Given the description of an element on the screen output the (x, y) to click on. 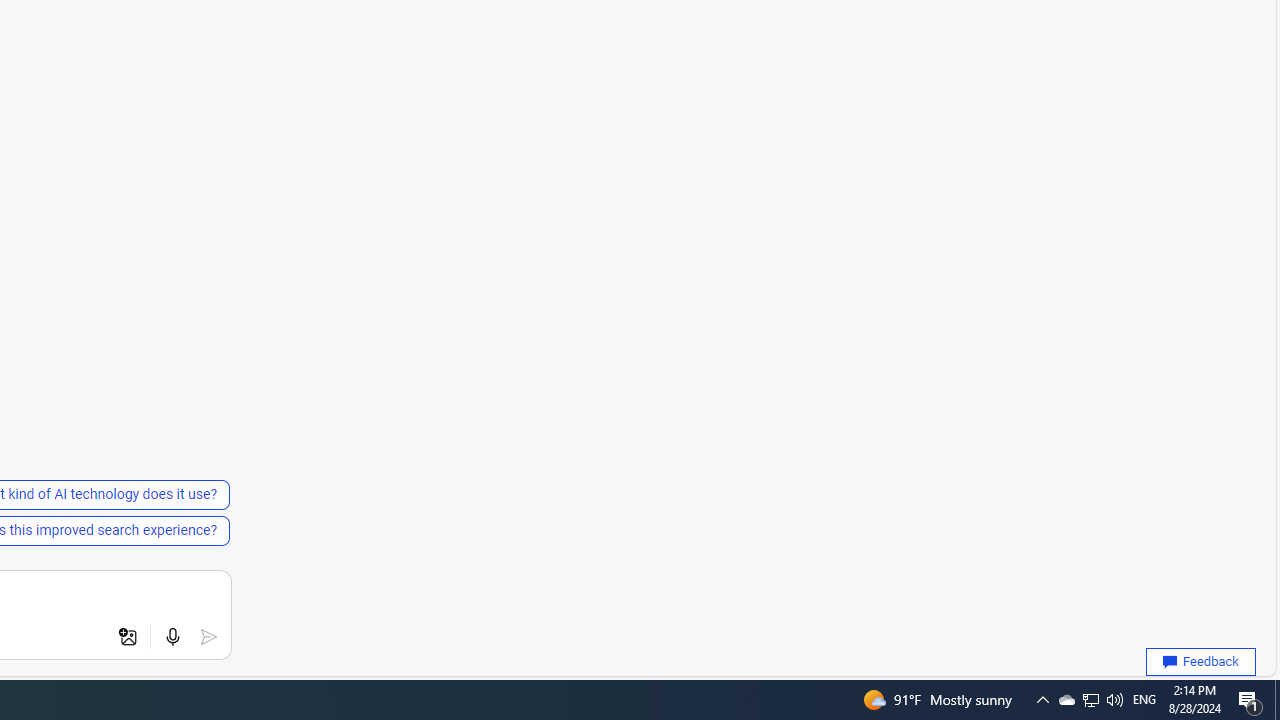
Add an image to search (127, 637)
Submit (208, 637)
Use microphone (172, 637)
Feedback (1200, 662)
